Given the description of an element on the screen output the (x, y) to click on. 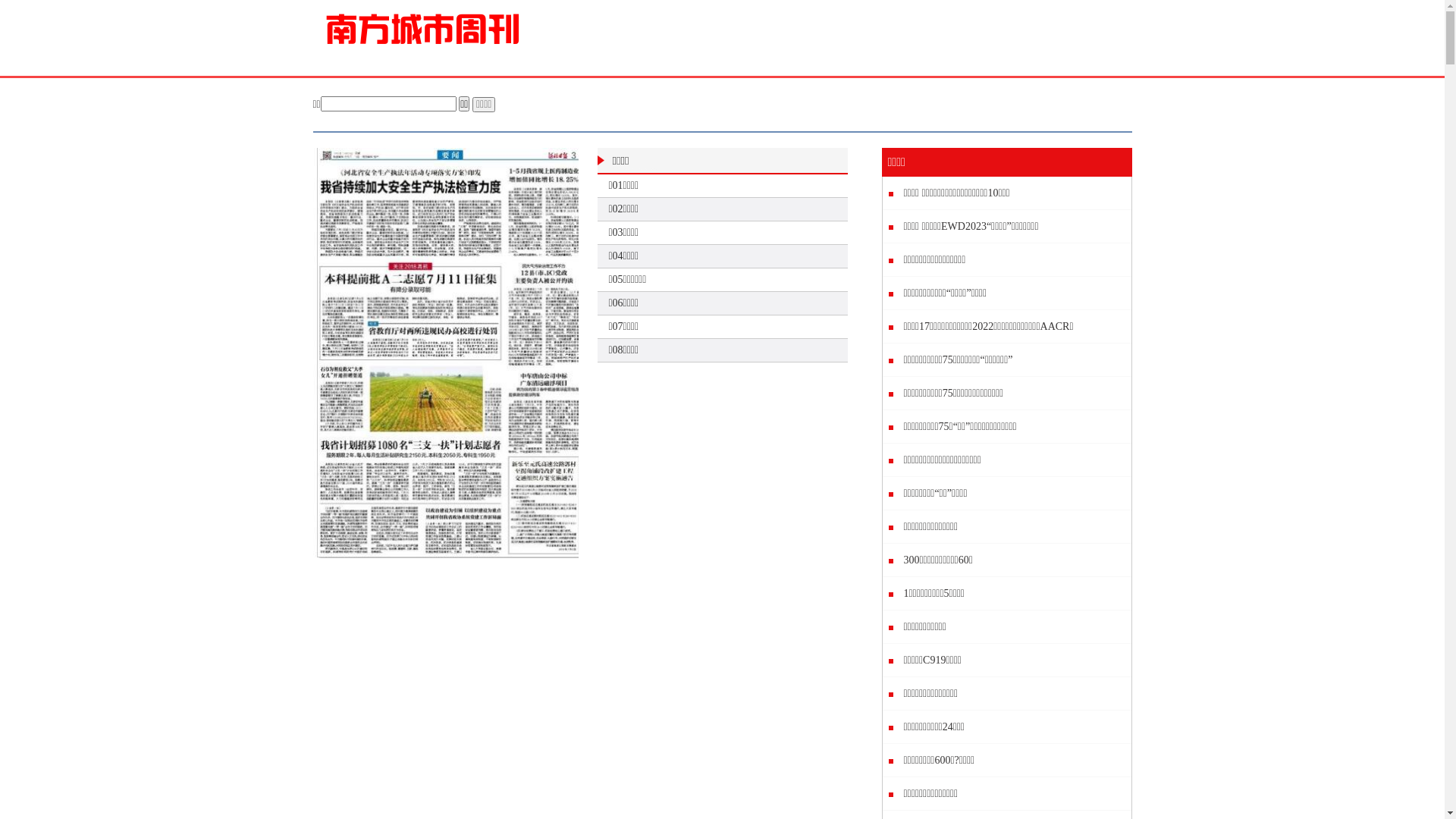
undefined Element type: hover (400, 399)
undefined Element type: hover (409, 482)
undefined Element type: hover (543, 506)
undefined Element type: hover (544, 325)
undefined Element type: hover (411, 227)
undefined Element type: hover (409, 327)
undefined Element type: hover (410, 531)
undefined Element type: hover (543, 213)
